Given the description of an element on the screen output the (x, y) to click on. 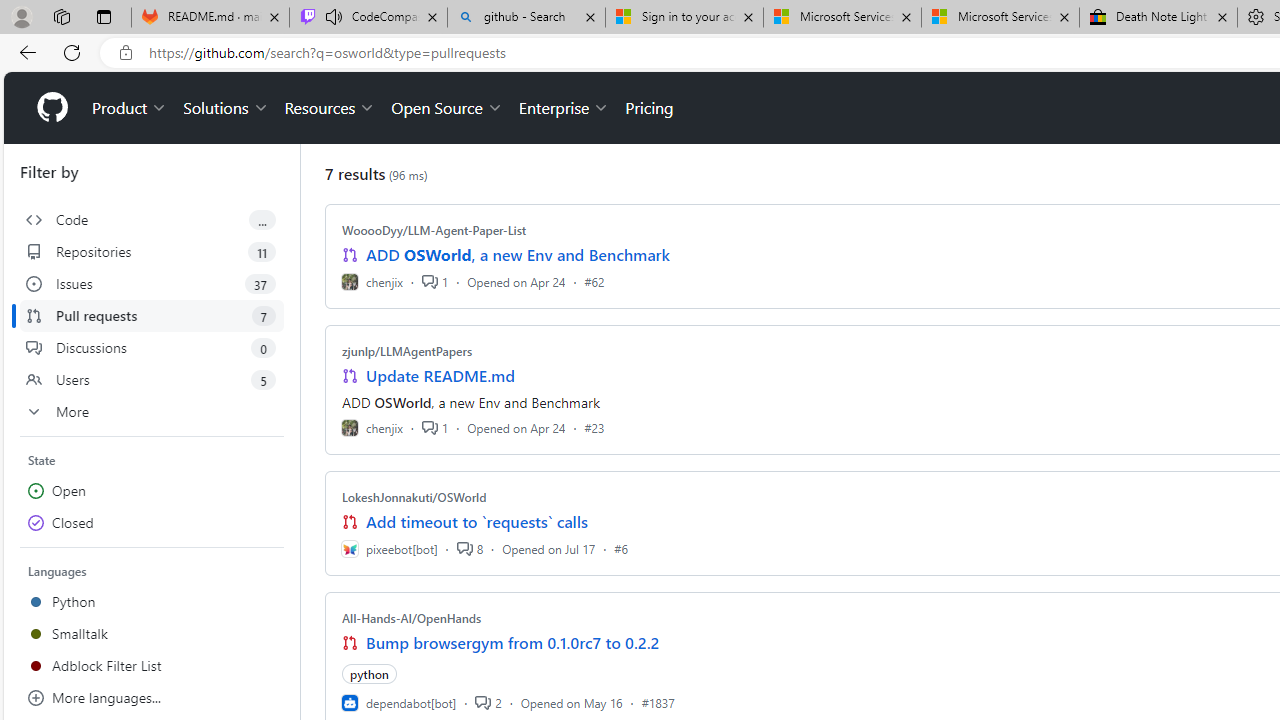
Pricing (649, 107)
zjunlp/LLMAgentPapers (407, 351)
Homepage (51, 107)
Bump browsergym from 0.1.0rc7 to 0.2.2 (513, 642)
Open Source (446, 107)
More (152, 411)
Solutions (225, 107)
